Given the description of an element on the screen output the (x, y) to click on. 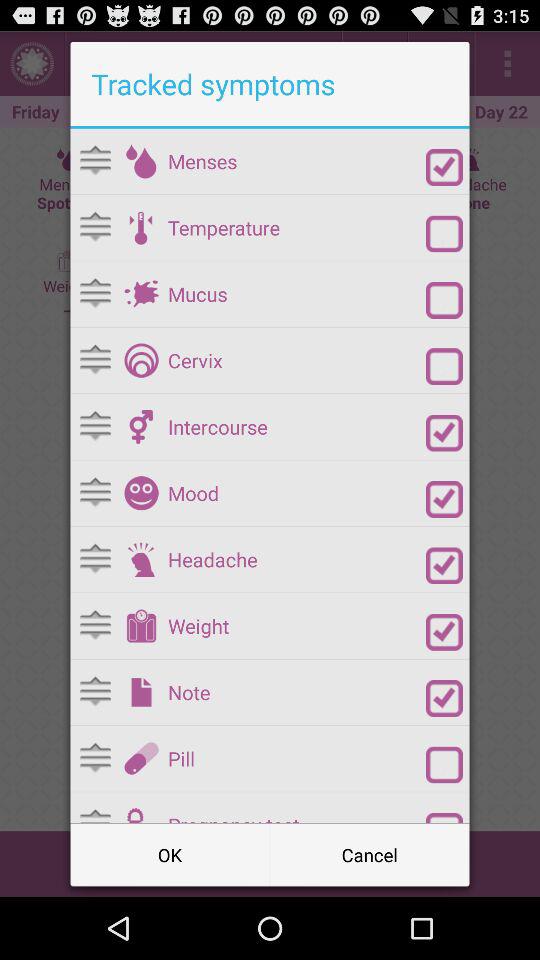
open weight app (296, 625)
